Given the description of an element on the screen output the (x, y) to click on. 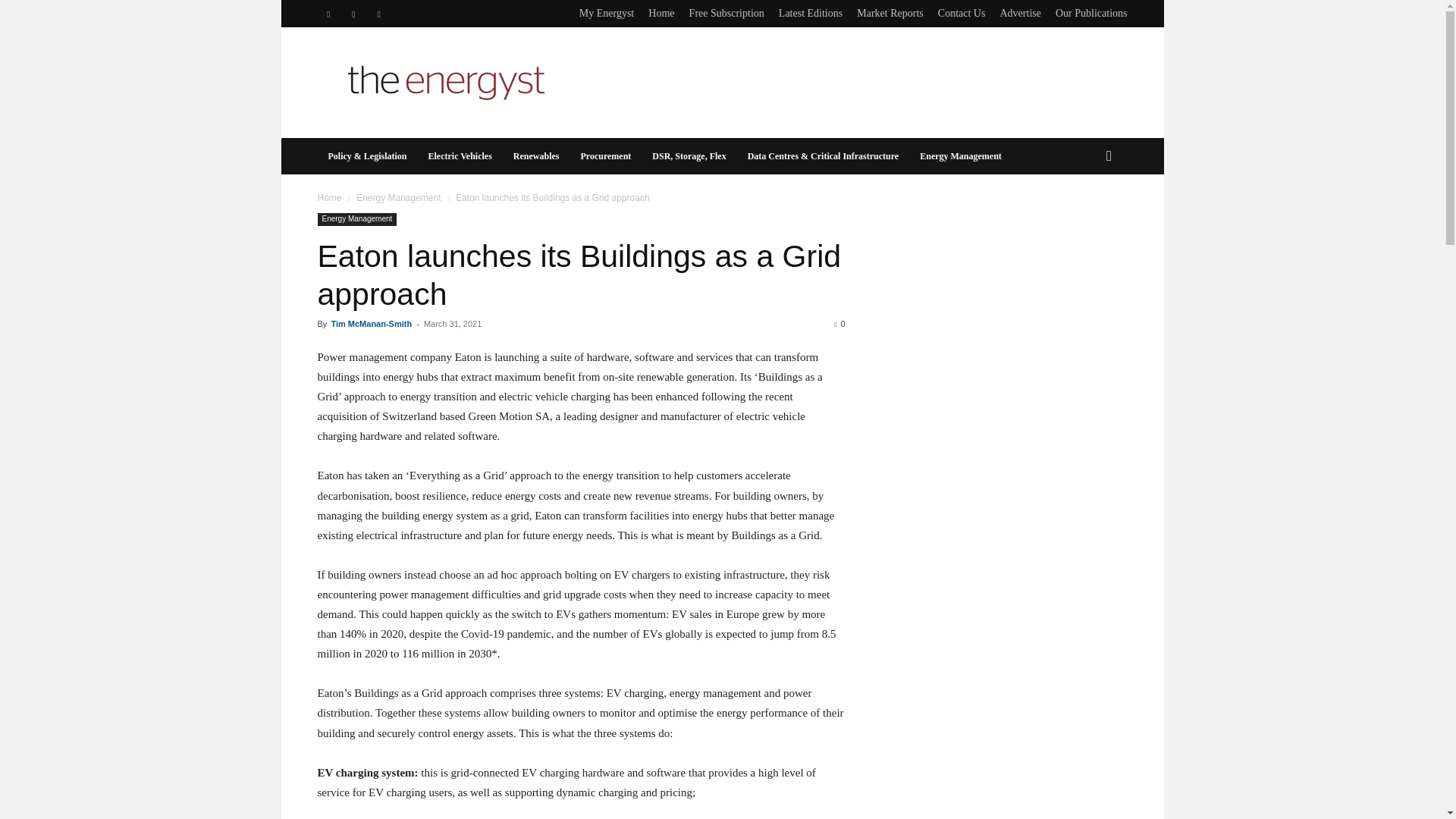
Renewables (536, 156)
DSR, Storage, Flex (689, 156)
My Energyst (606, 12)
Energy Management (398, 197)
Advertise (1019, 12)
Electric Vehicles (459, 156)
Latest Editions (810, 12)
Search (1085, 216)
Energy Management (959, 156)
Our Publications (1090, 12)
